Given the description of an element on the screen output the (x, y) to click on. 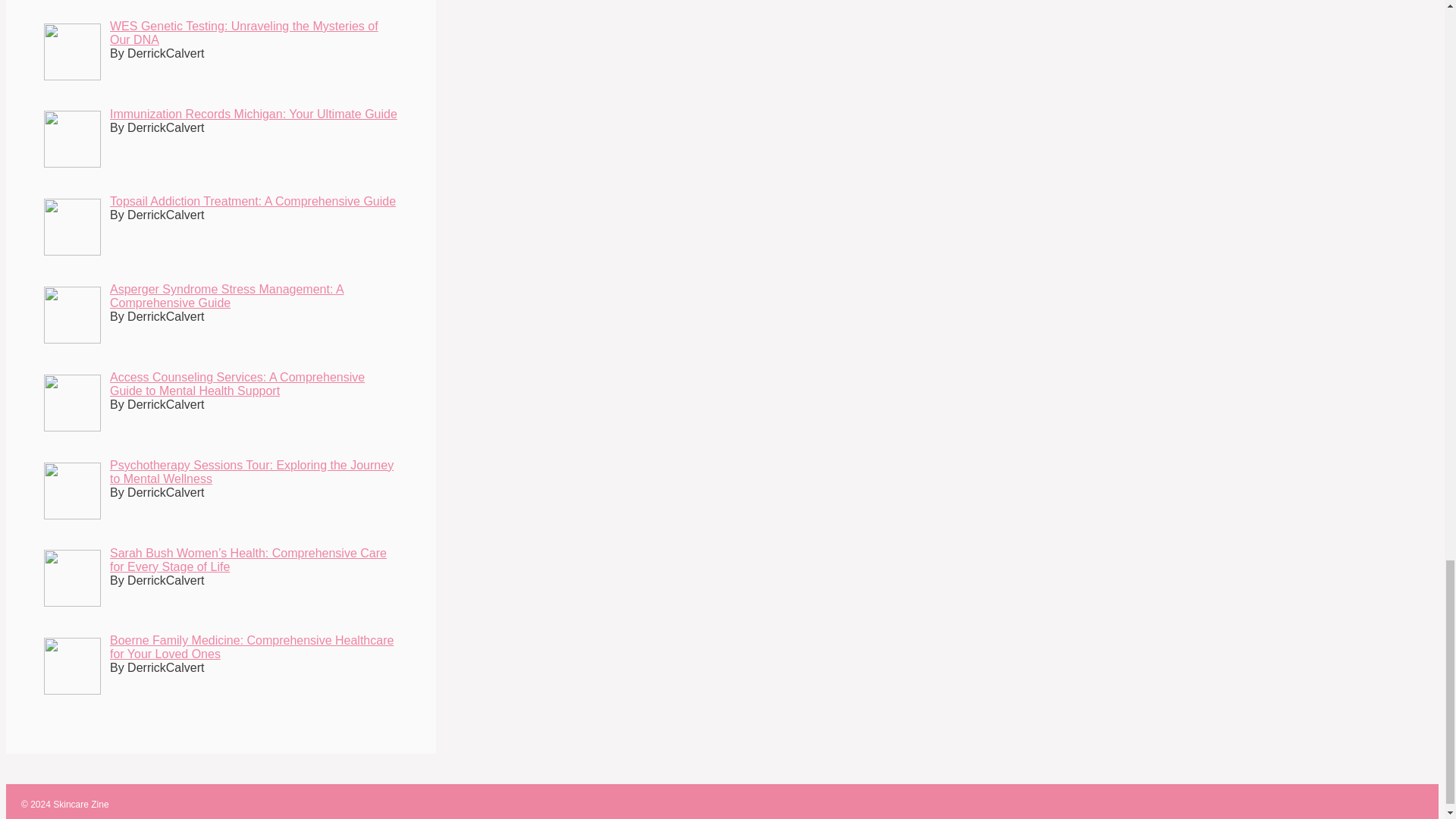
WES Genetic Testing: Unraveling the Mysteries of Our DNA (244, 32)
Immunization Records Michigan: Your Ultimate Guide (253, 113)
Topsail Addiction Treatment: A Comprehensive Guide (253, 201)
Asperger Syndrome Stress Management: A Comprehensive Guide (226, 295)
